Given the description of an element on the screen output the (x, y) to click on. 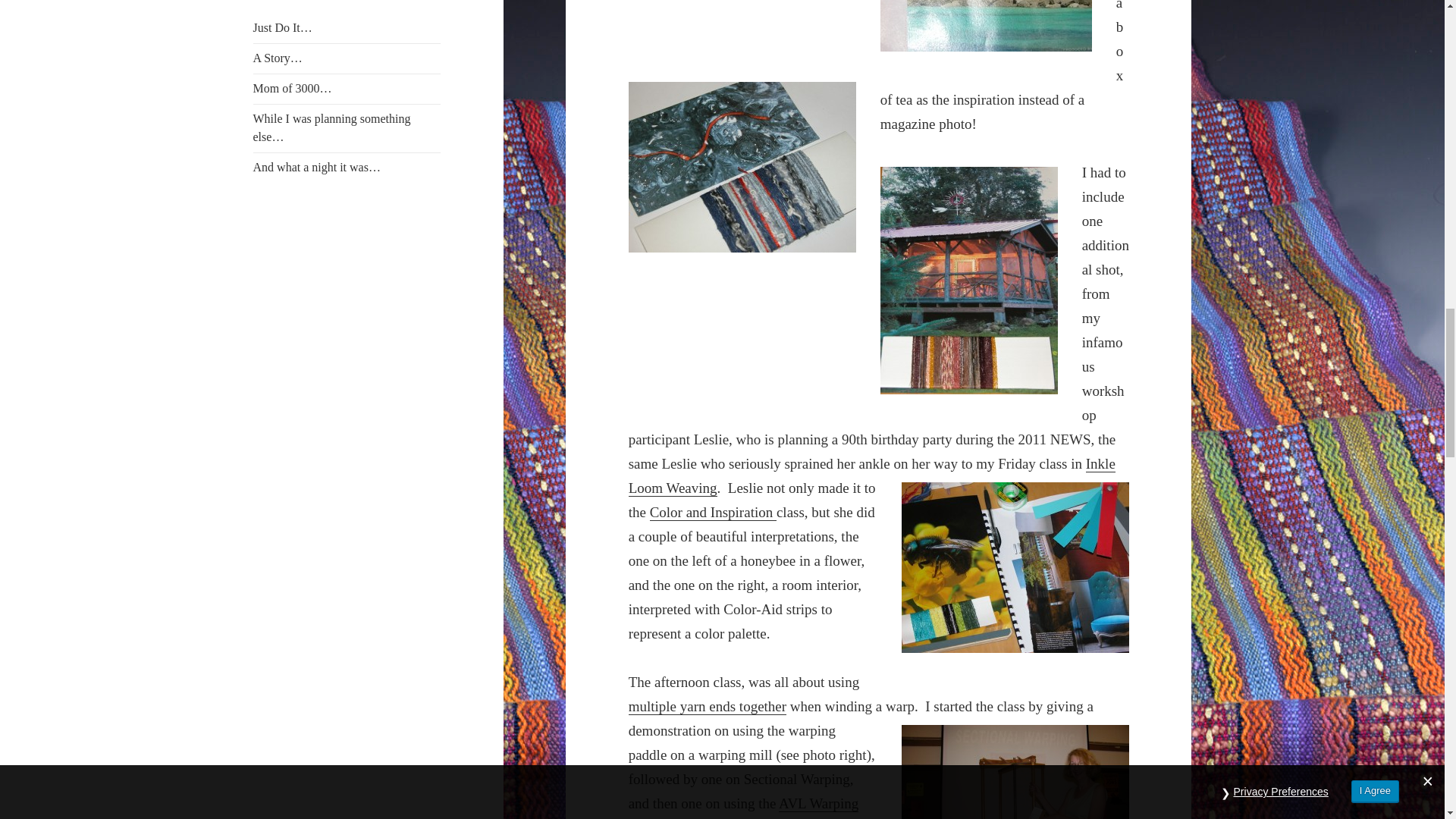
Color and Inspiration (712, 512)
wrapleslie (1015, 567)
multiple yarn ends together (707, 706)
Inkle (1100, 463)
wrap3 (742, 166)
AVL Warping Wheel (743, 807)
Loom Weaving (672, 487)
wrap2 (986, 25)
